Given the description of an element on the screen output the (x, y) to click on. 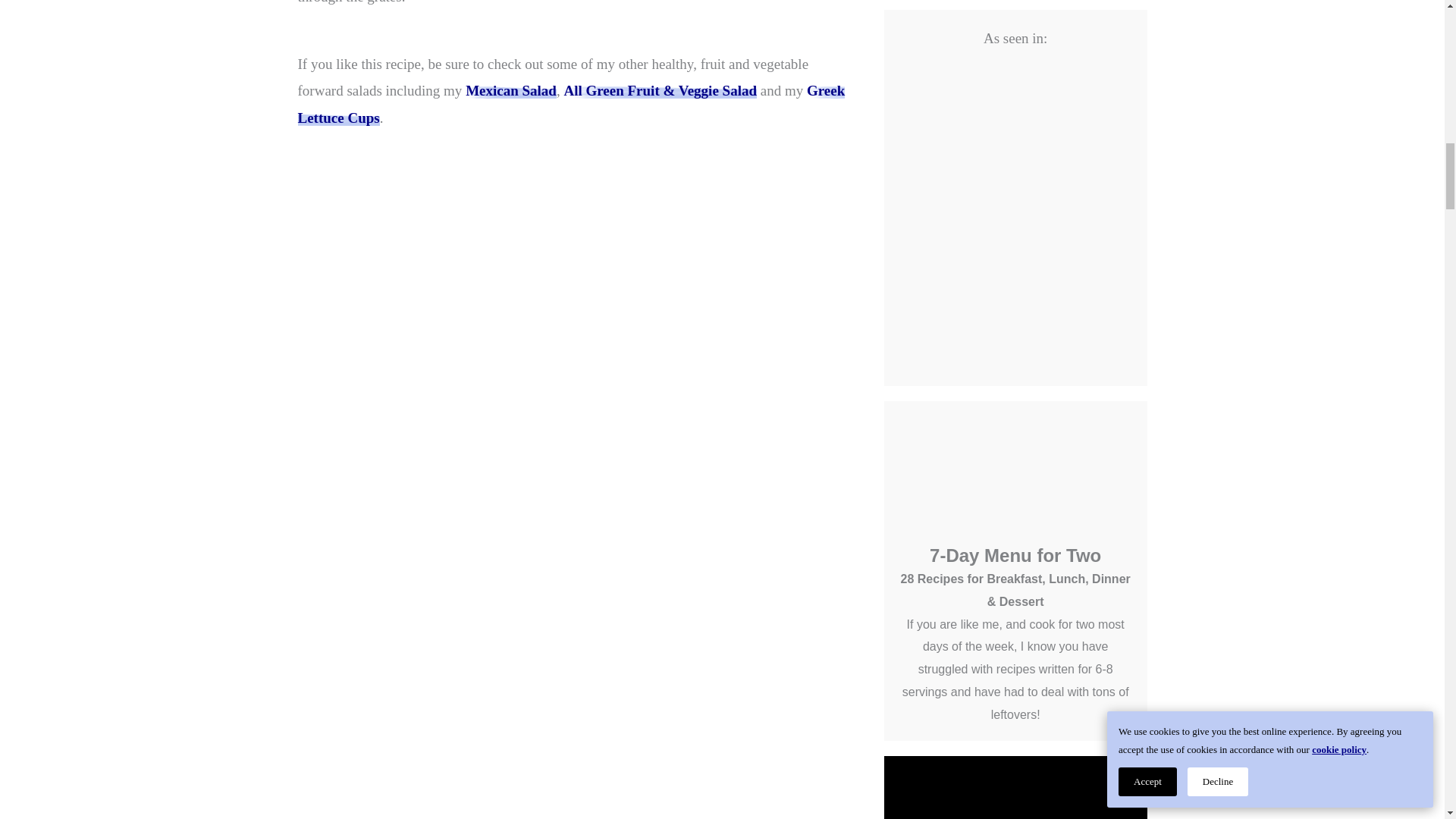
My Curated Tastes (570, 103)
My Curated Tastes (510, 90)
My Curated Tastes (660, 90)
